Given the description of an element on the screen output the (x, y) to click on. 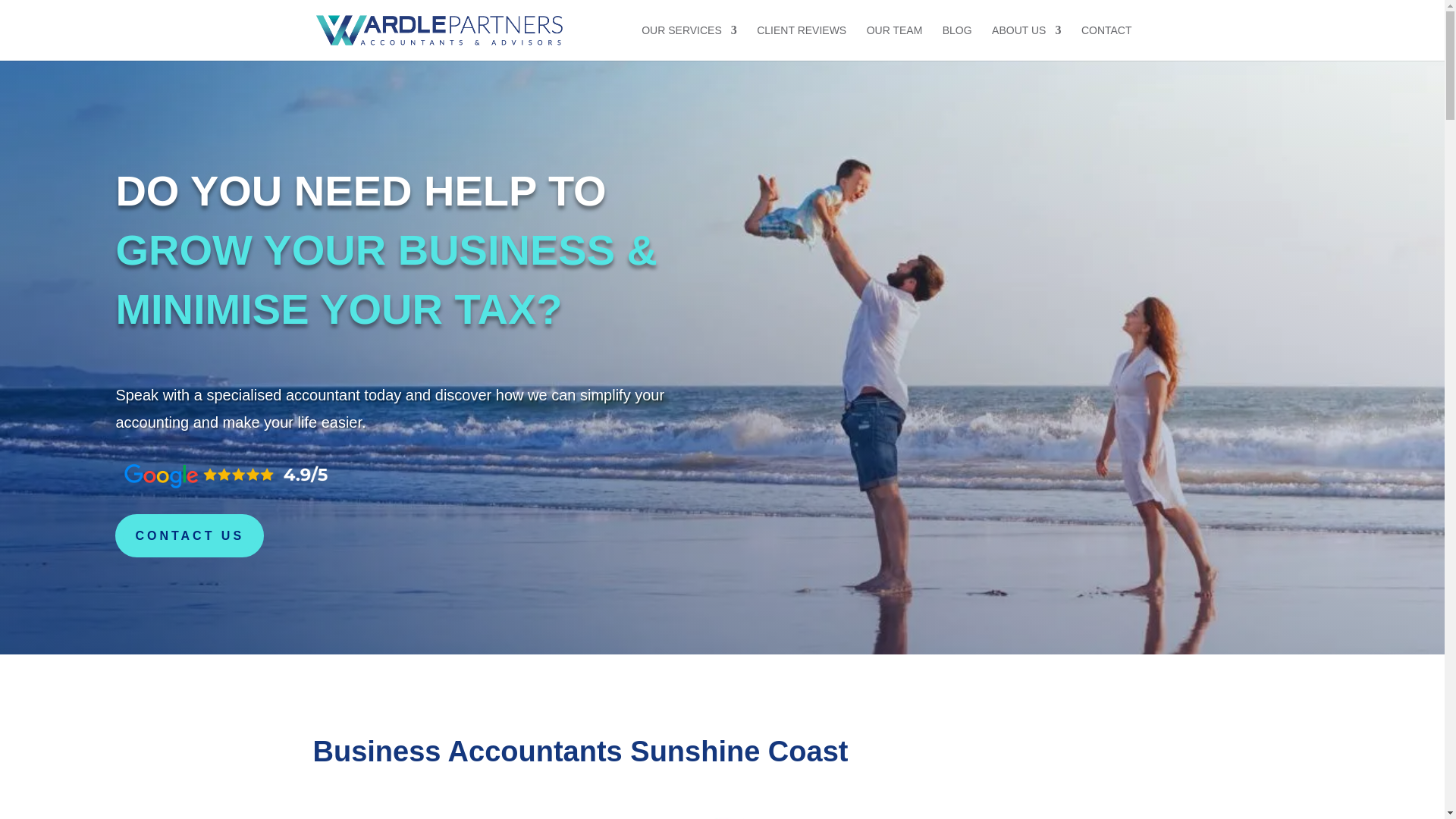
OUR SERVICES (689, 42)
Wardle-Partners-Our-Services-Business-Accounting-v2 (434, 812)
CONTACT US (189, 535)
bookkeeping icon (1010, 816)
Wardle Partners Our Services Self Managed Superannuation (721, 814)
ABOUT US (1026, 42)
CLIENT REVIEWS (801, 42)
CONTACT (1106, 42)
OUR TEAM (894, 42)
